Given the description of an element on the screen output the (x, y) to click on. 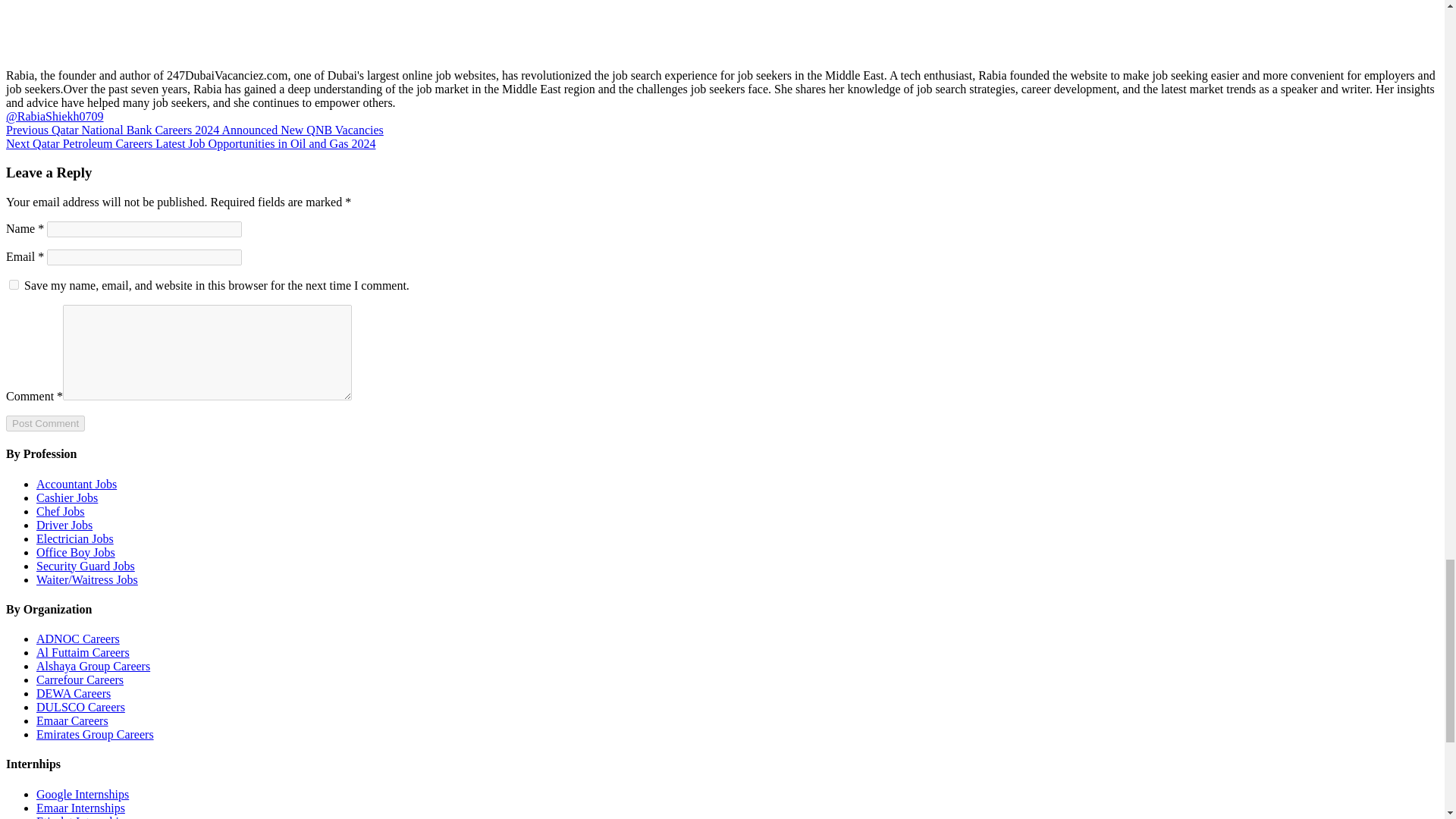
yes (13, 284)
Post Comment (44, 423)
